Given the description of an element on the screen output the (x, y) to click on. 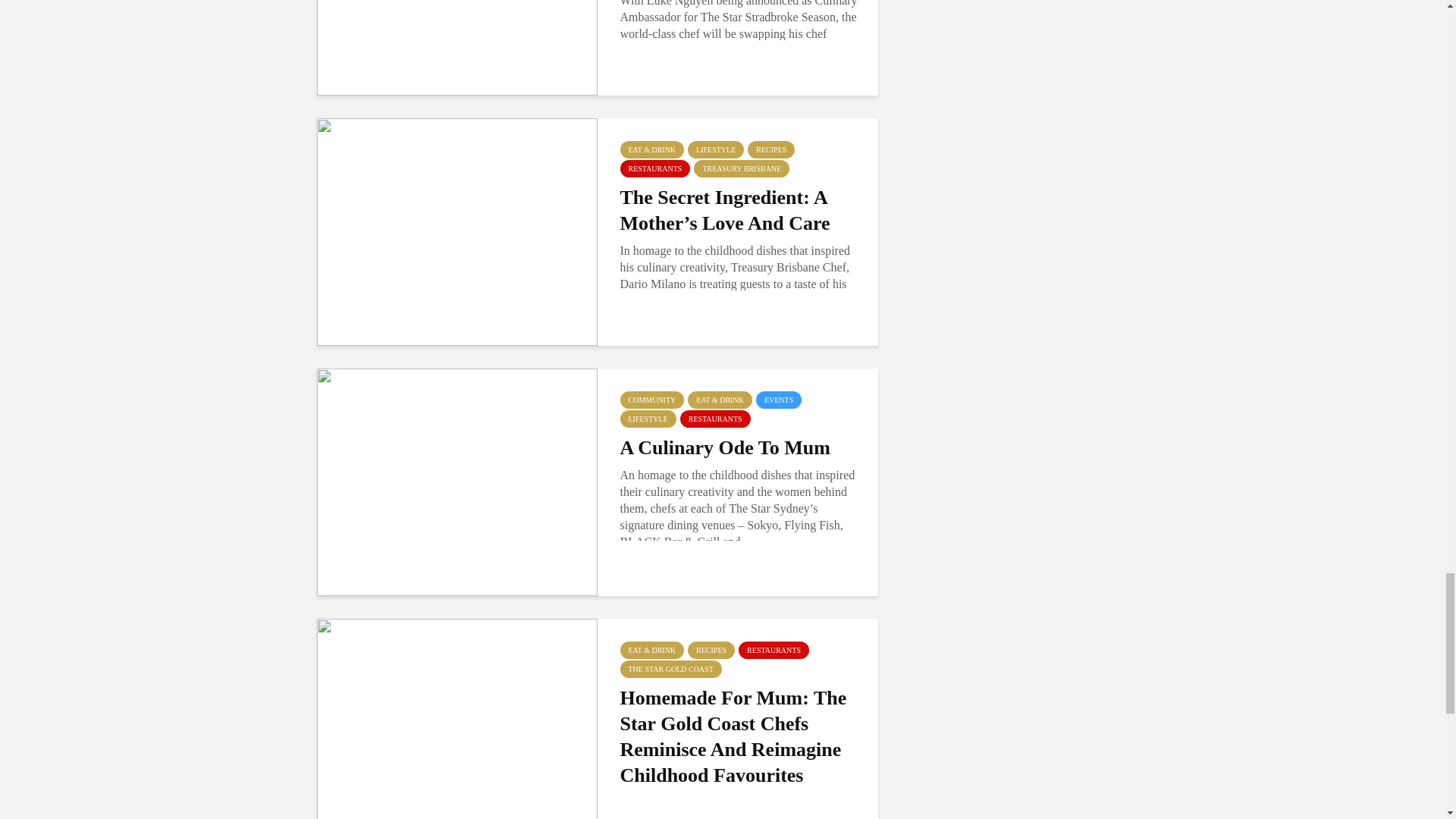
A Culinary Ode To Mum (456, 481)
